Given the description of an element on the screen output the (x, y) to click on. 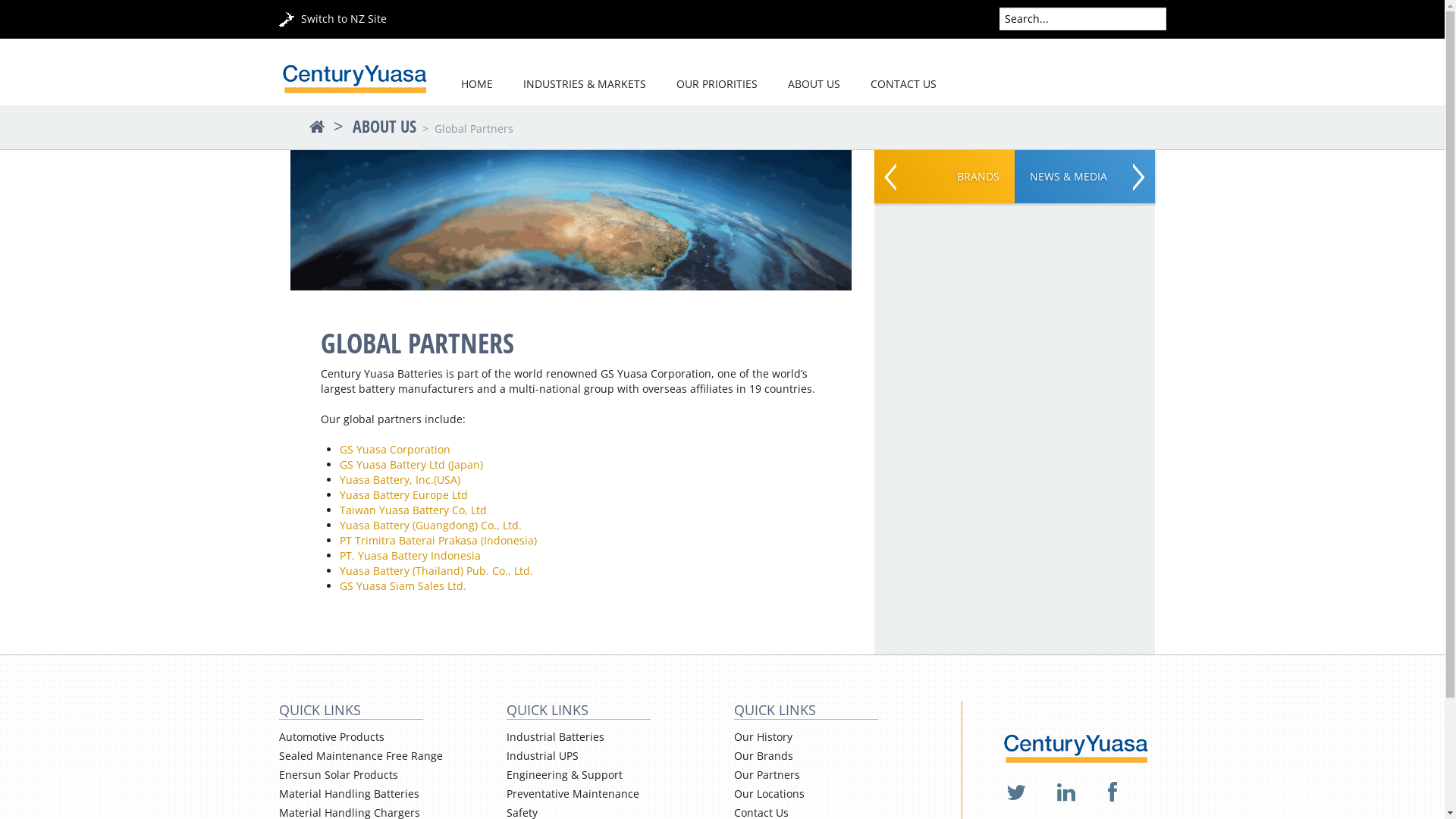
Sealed Maintenance Free Range Element type: text (360, 755)
Enersun Solar Products Element type: text (338, 774)
CONTACT US Element type: text (903, 85)
 >  Element type: text (330, 126)
Engineering & Support Element type: text (564, 774)
Switch to NZ Site Element type: text (332, 18)
Global Partners Element type: text (472, 128)
PT Trimitra Baterai Prakasa (Indonesia) Element type: text (437, 540)
Yuasa Battery, Inc.(USA) Element type: text (399, 479)
ABOUT US Element type: text (813, 85)
Industrial UPS Element type: text (542, 755)
Yuasa Battery Europe Ltd Element type: text (403, 494)
Industrial Batteries Element type: text (555, 736)
BRANDS Element type: text (943, 176)
INDUSTRIES & MARKETS Element type: text (584, 85)
Automotive Products Element type: text (331, 736)
Our Partners Element type: text (767, 774)
Facebook Element type: hover (1112, 792)
Yuasa Battery (Thailand) Pub. Co., Ltd. Element type: text (436, 570)
GS Yuasa Corporation Element type: text (394, 449)
Twitter Element type: hover (1015, 792)
NEWS & MEDIA Element type: text (1084, 176)
GS Yuasa Siam Sales Ltd. Element type: text (402, 585)
LinkedIn Element type: hover (1066, 792)
Our History Element type: text (763, 736)
HOME Element type: text (476, 85)
Yuasa Battery (Guangdong) Co., Ltd. Element type: text (430, 524)
Our Brands Element type: text (763, 755)
PT. Yuasa Battery Indonesia Element type: text (409, 555)
ABOUT US Element type: text (383, 126)
Our Locations Element type: text (769, 793)
GS Yuasa Battery Ltd (Japan) Element type: text (411, 464)
Material Handling Batteries Element type: text (349, 793)
Preventative Maintenance Element type: text (572, 793)
Taiwan Yuasa Battery Co, Ltd Element type: text (412, 509)
OUR PRIORITIES Element type: text (716, 85)
